Given the description of an element on the screen output the (x, y) to click on. 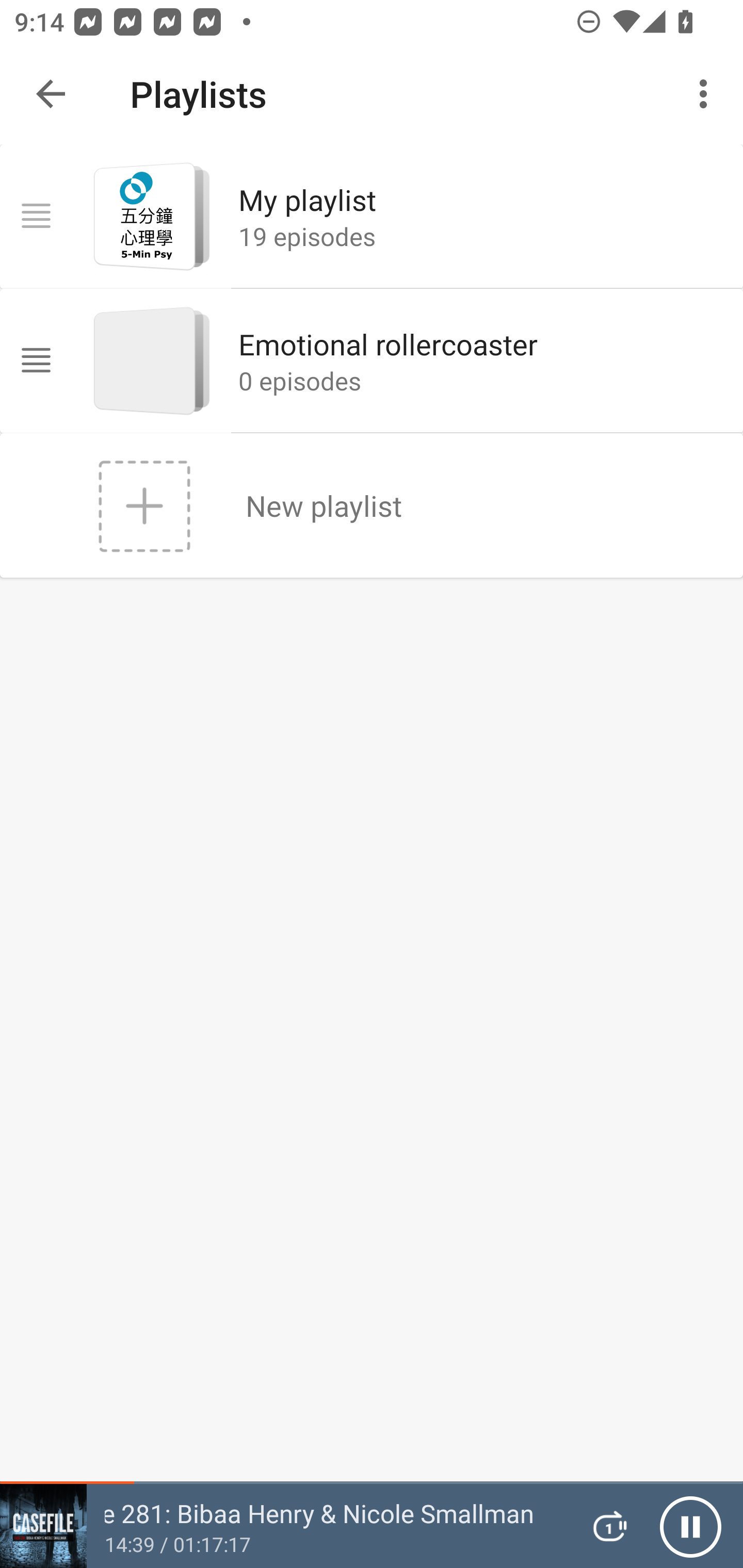
Navigate up (50, 93)
More options (706, 93)
 Hold and drag to reorder My playlist 19 episodes (371, 216)
New playlist (371, 504)
Pause (690, 1526)
